Given the description of an element on the screen output the (x, y) to click on. 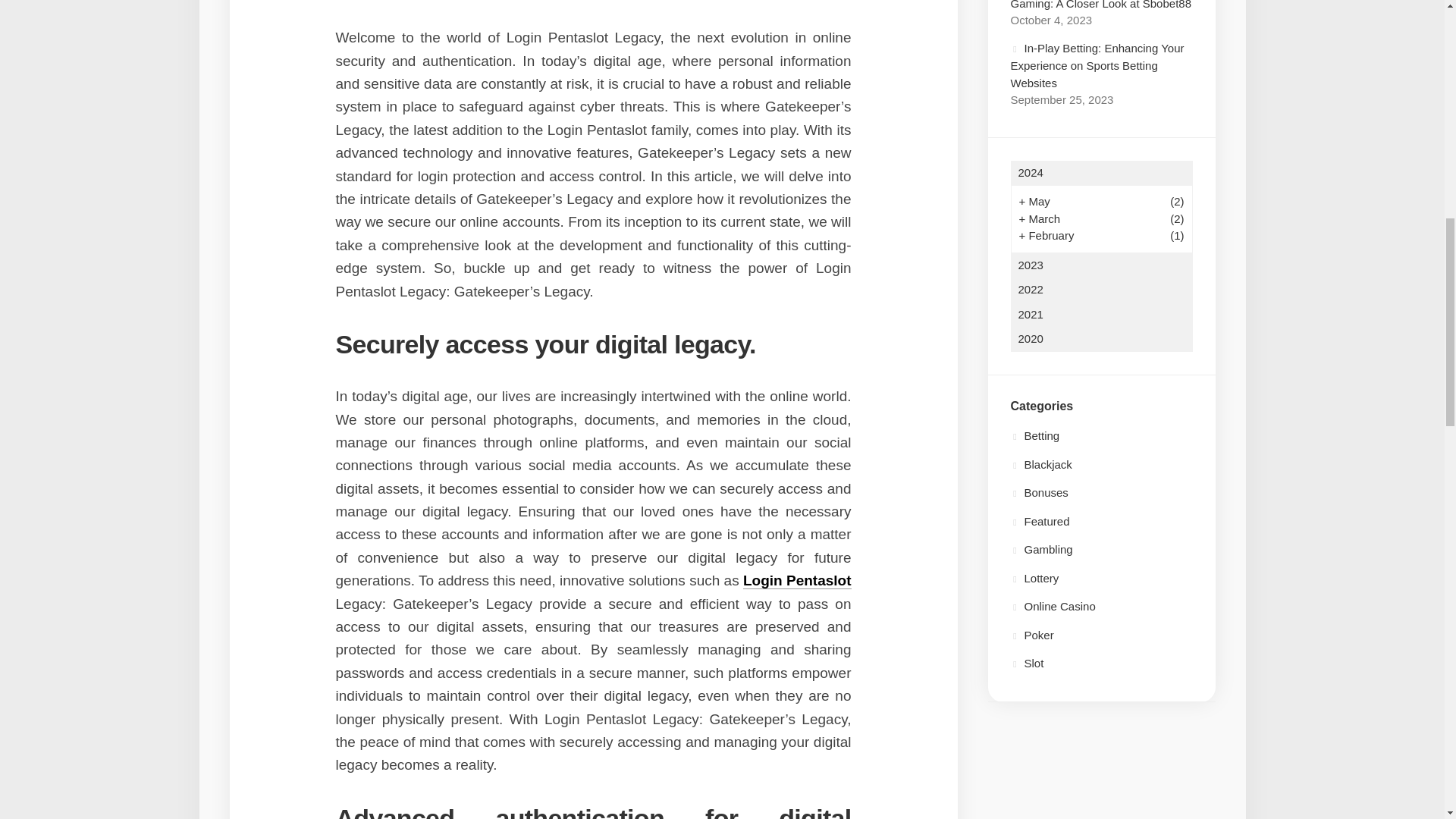
Login Pentaslot (796, 580)
